Given the description of an element on the screen output the (x, y) to click on. 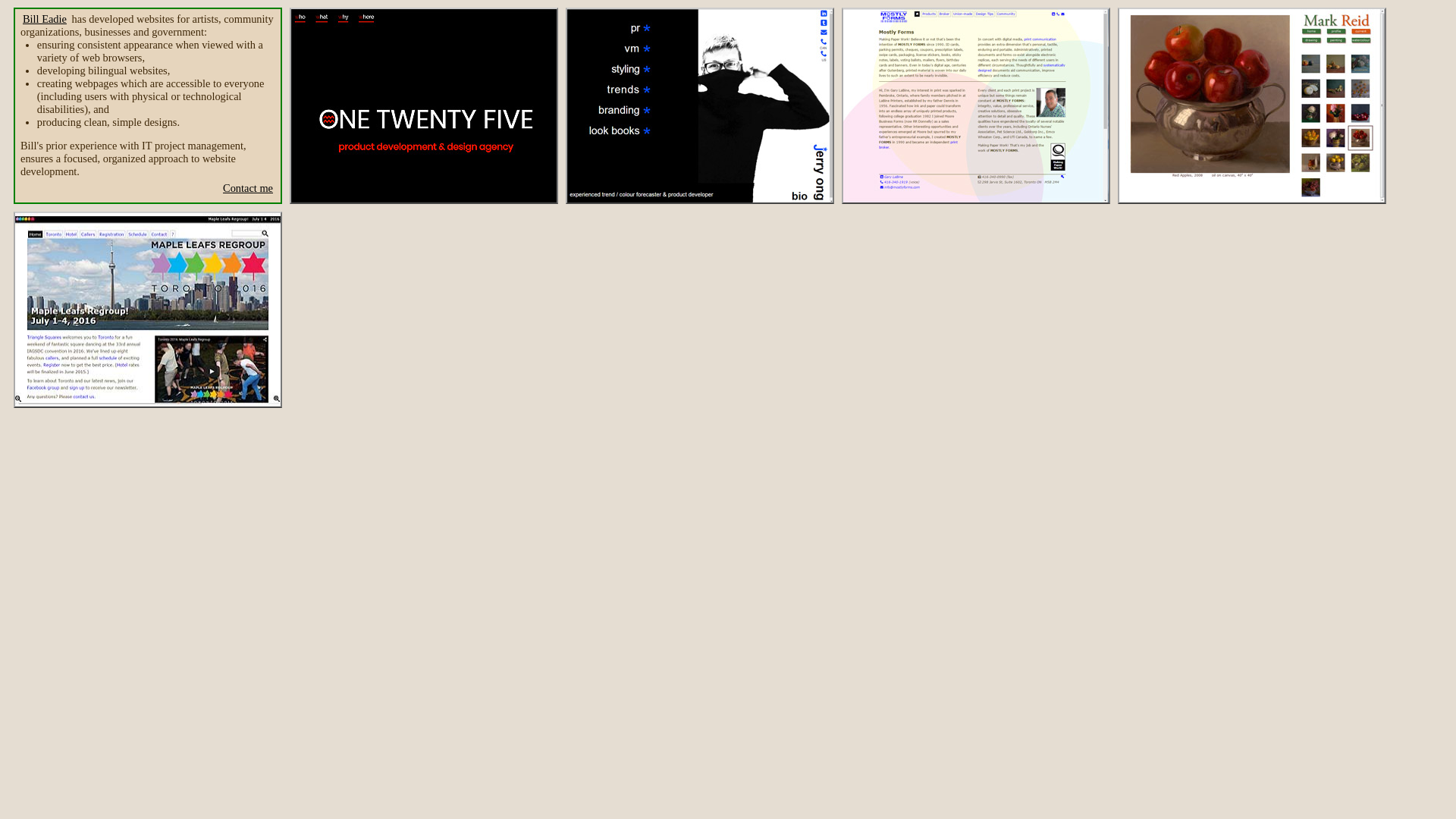
Jerry Ong, retail trends consultant Element type: hover (699, 105)
Bill Eadie Element type: text (44, 19)
One Twenty Fve design agency Element type: hover (423, 105)
Mark Reid, artist Element type: hover (1251, 105)
Contact me Element type: text (247, 188)
square dance convention Element type: hover (147, 309)
Mostly Forms Element type: hover (975, 105)
